Given the description of an element on the screen output the (x, y) to click on. 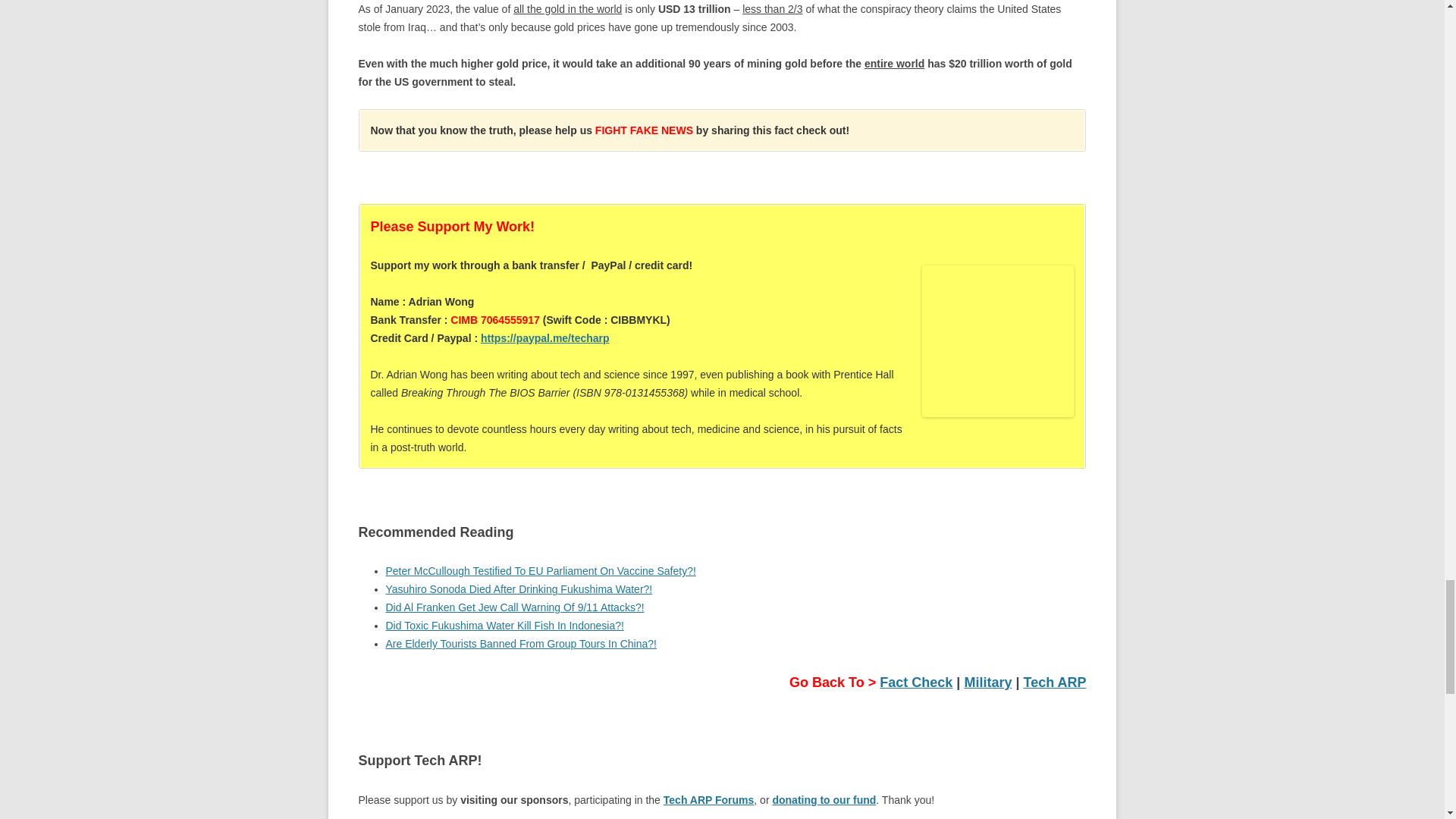
Are Elderly Tourists Banned From Group Tours In China?! (520, 644)
Did Toxic Fukushima Water Kill Fish In Indonesia?! (504, 625)
Tech ARP (1054, 682)
donating to our fund (823, 799)
Fact Check (915, 682)
Tech ARP Forums (708, 799)
Military (987, 682)
Yasuhiro Sonoda Died After Drinking Fukushima Water?! (518, 589)
